Given the description of an element on the screen output the (x, y) to click on. 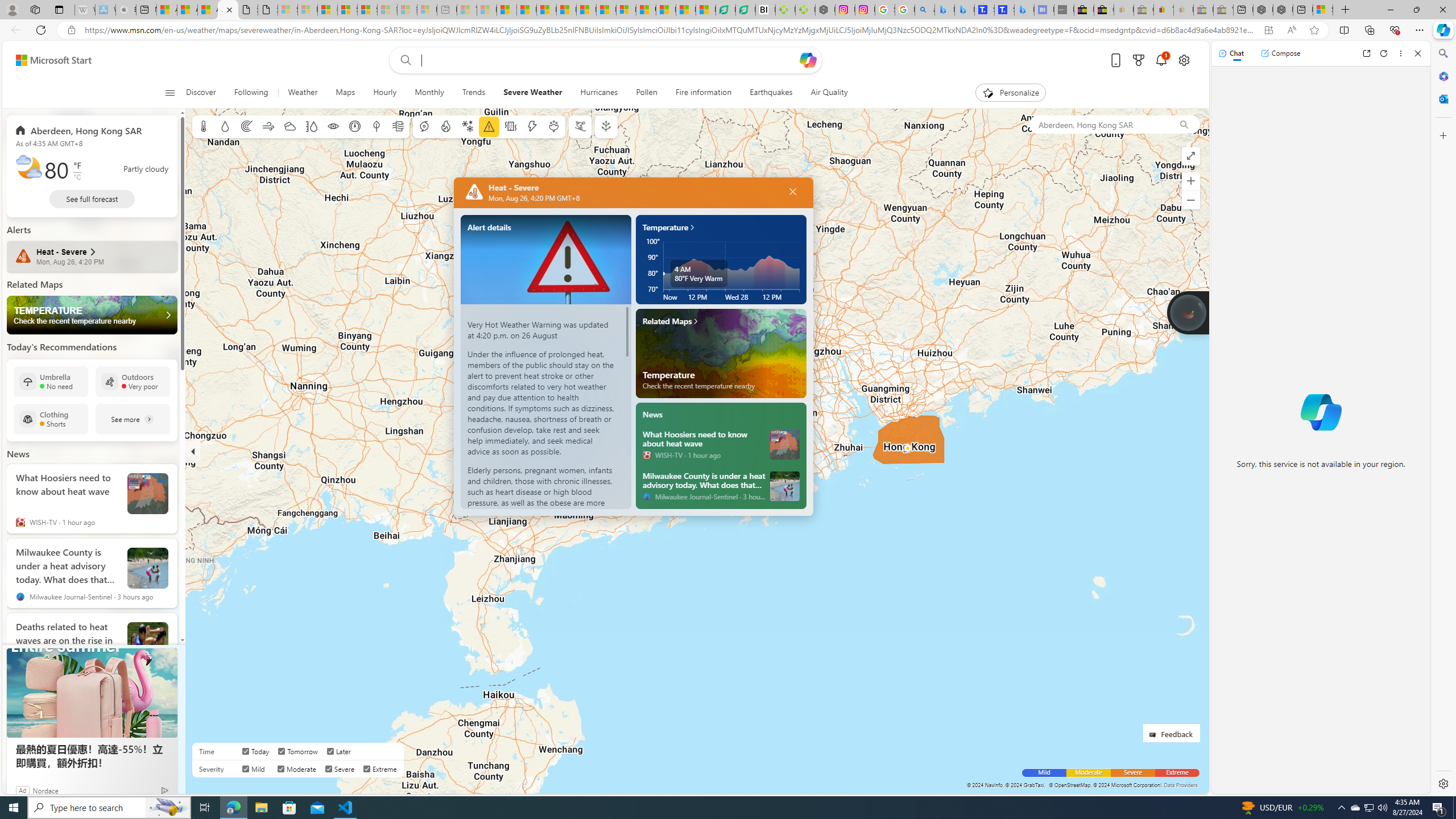
Winter weather (467, 126)
Hurricane (423, 126)
Top Stories - MSN - Sleeping (466, 9)
Nordace - Nordace Edin Collection (825, 9)
Air quality (397, 126)
Shangri-La Bangkok, Hotel reviews and Room rates (1004, 9)
Join us in planting real trees to help our planet! (1188, 311)
